Given the description of an element on the screen output the (x, y) to click on. 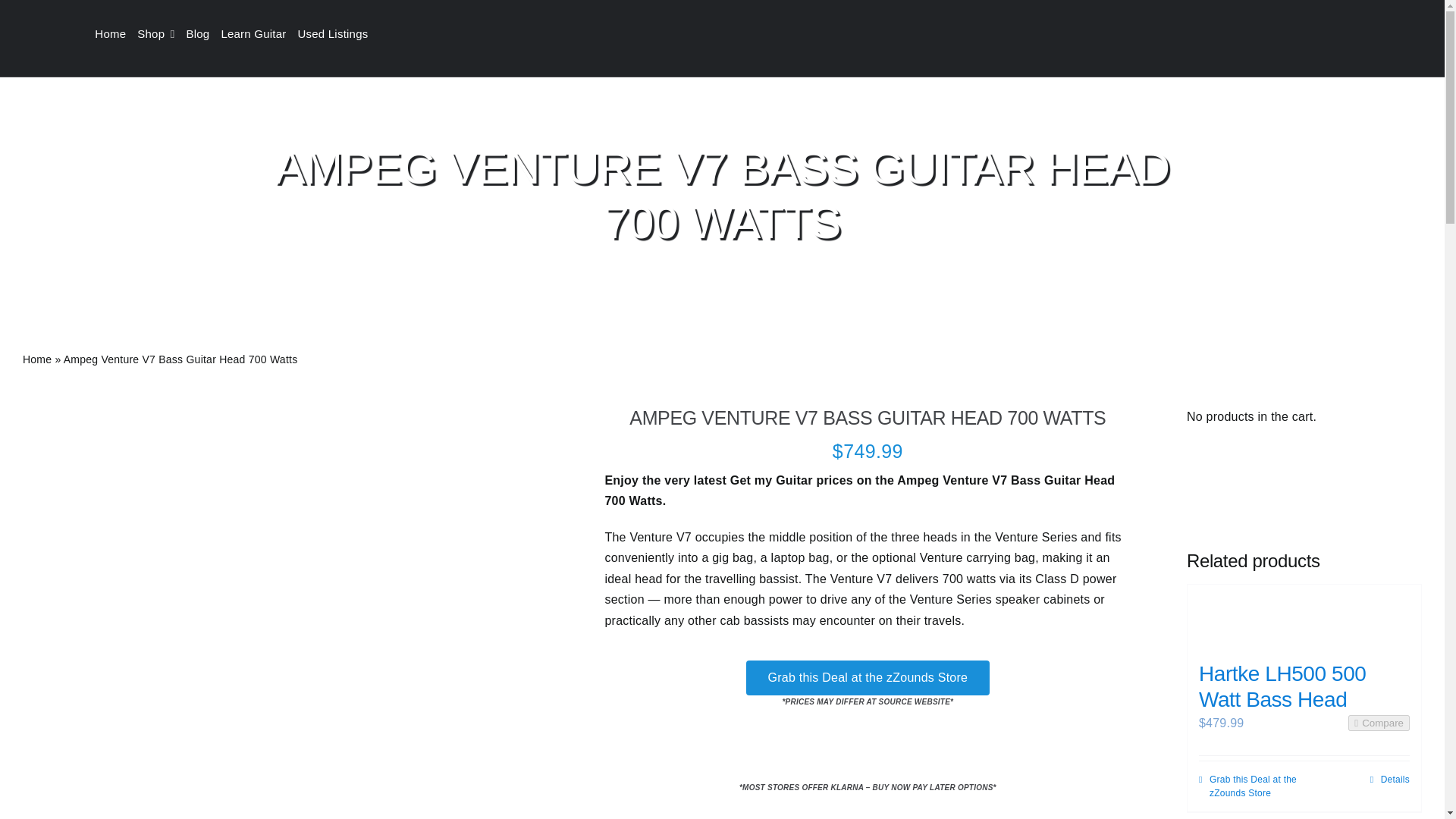
Used Listings (337, 34)
Home (36, 358)
Blog (203, 34)
Get my Guitar Logo (721, 34)
Grab this Deal at the zZounds Store (867, 677)
Home (115, 34)
Shop (161, 34)
Hartke LH500 500 Watt Bass Head (1304, 615)
klarna badge (867, 752)
Learn Guitar (259, 34)
